Given the description of an element on the screen output the (x, y) to click on. 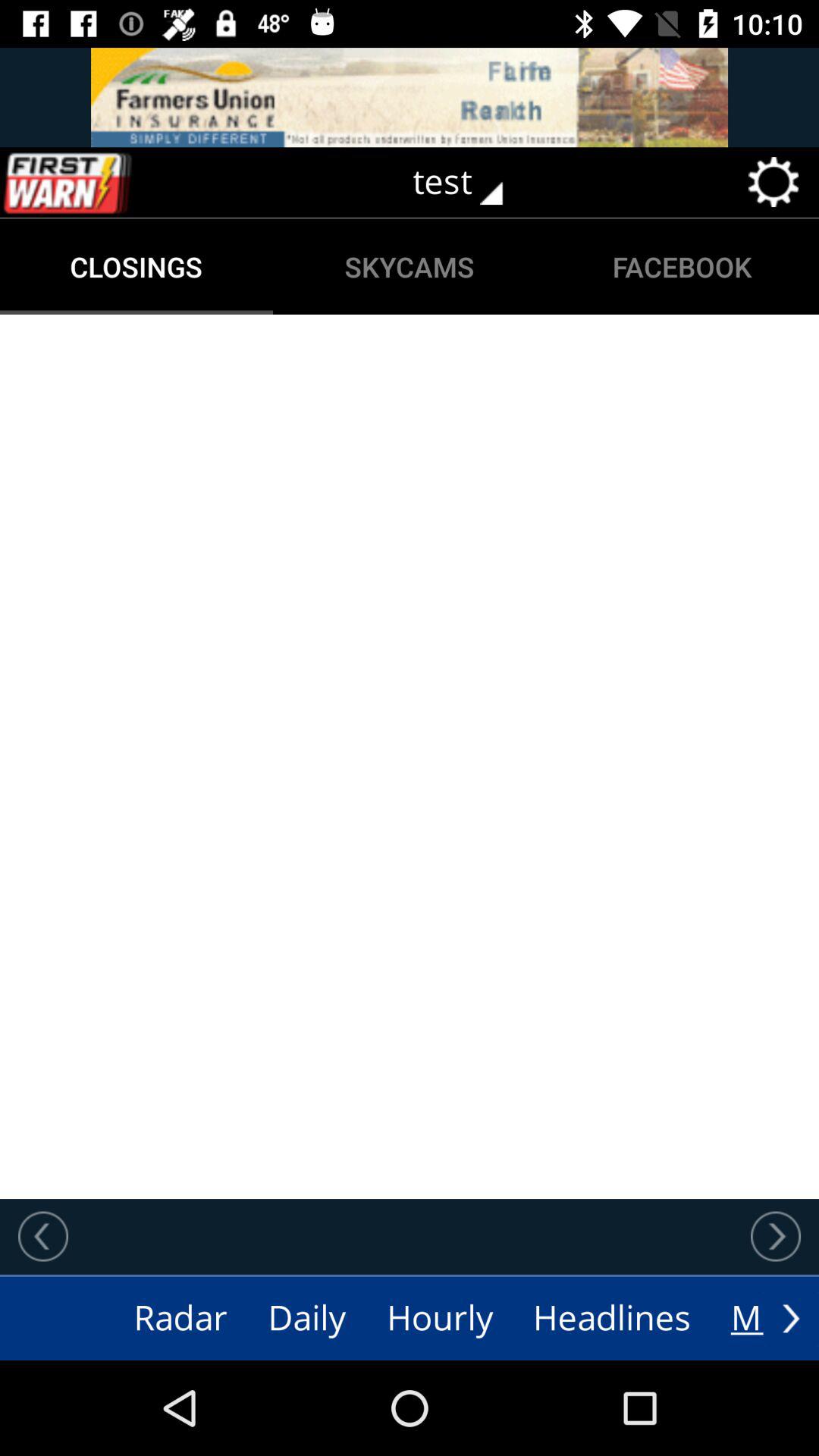
launch the icon to the left of test (99, 182)
